Given the description of an element on the screen output the (x, y) to click on. 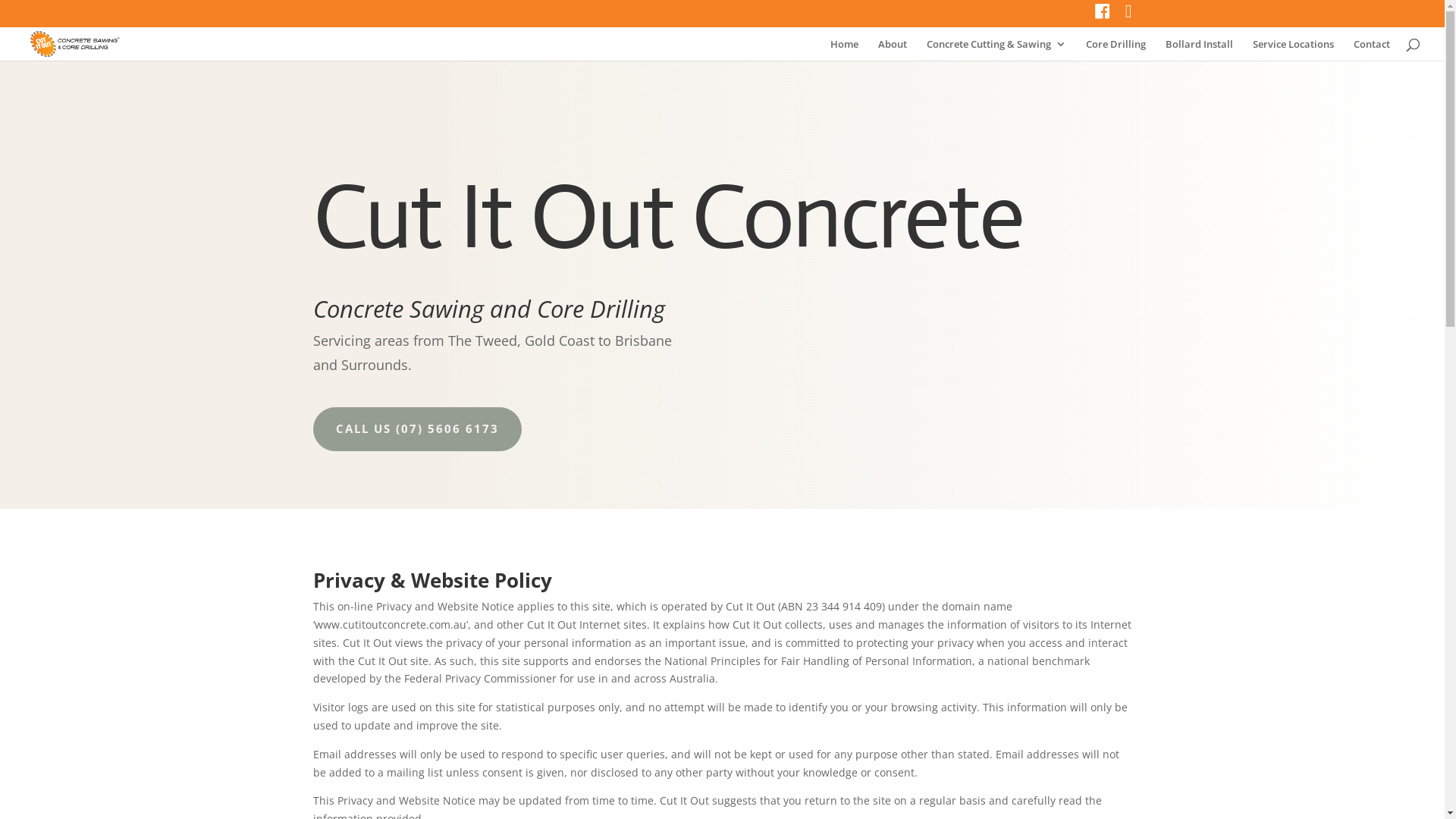
Service Locations Element type: text (1292, 49)
Instagram Element type: text (1128, 16)
Core Drilling Element type: text (1115, 49)
Concrete Cutting & Sawing Element type: text (996, 49)
Contact Element type: text (1371, 49)
About Element type: text (892, 49)
Bollard Install Element type: text (1199, 49)
CALL US (07) 5606 6173 Element type: text (416, 429)
Facebook Element type: text (1102, 16)
Home Element type: text (844, 49)
